Given the description of an element on the screen output the (x, y) to click on. 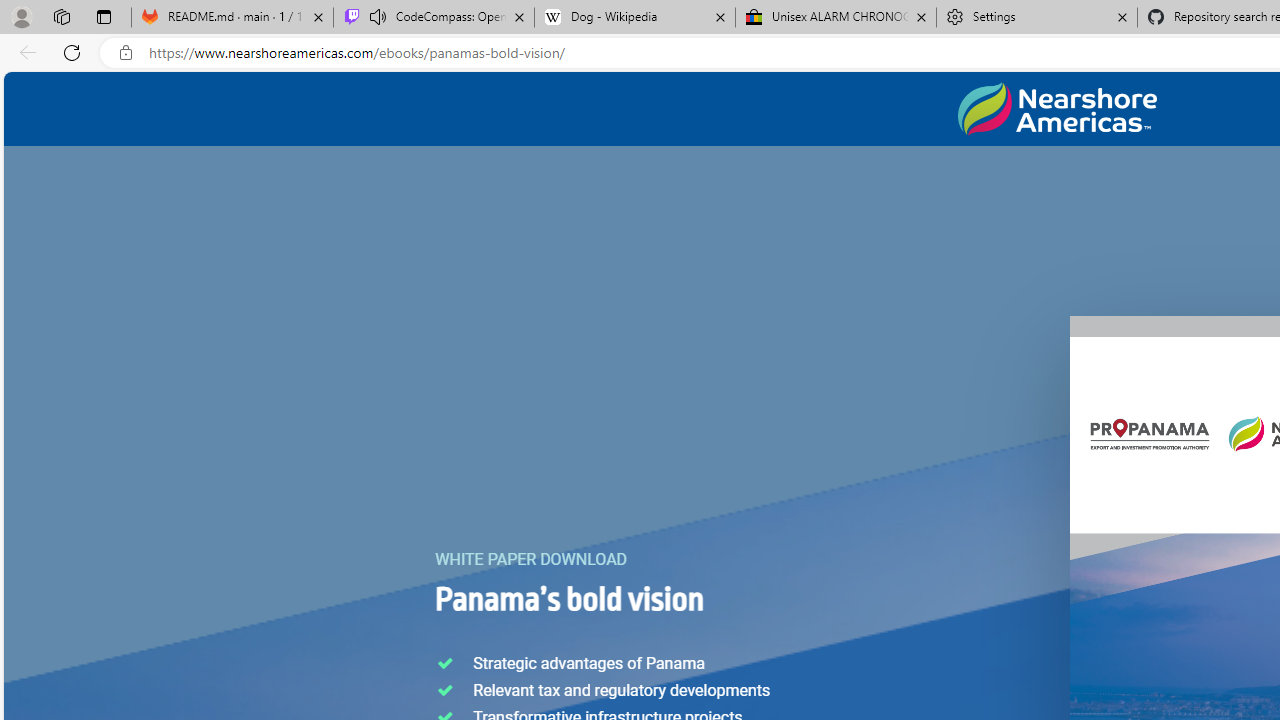
Dog - Wikipedia (634, 17)
Mute tab (377, 16)
Class: center (1057, 109)
